Given the description of an element on the screen output the (x, y) to click on. 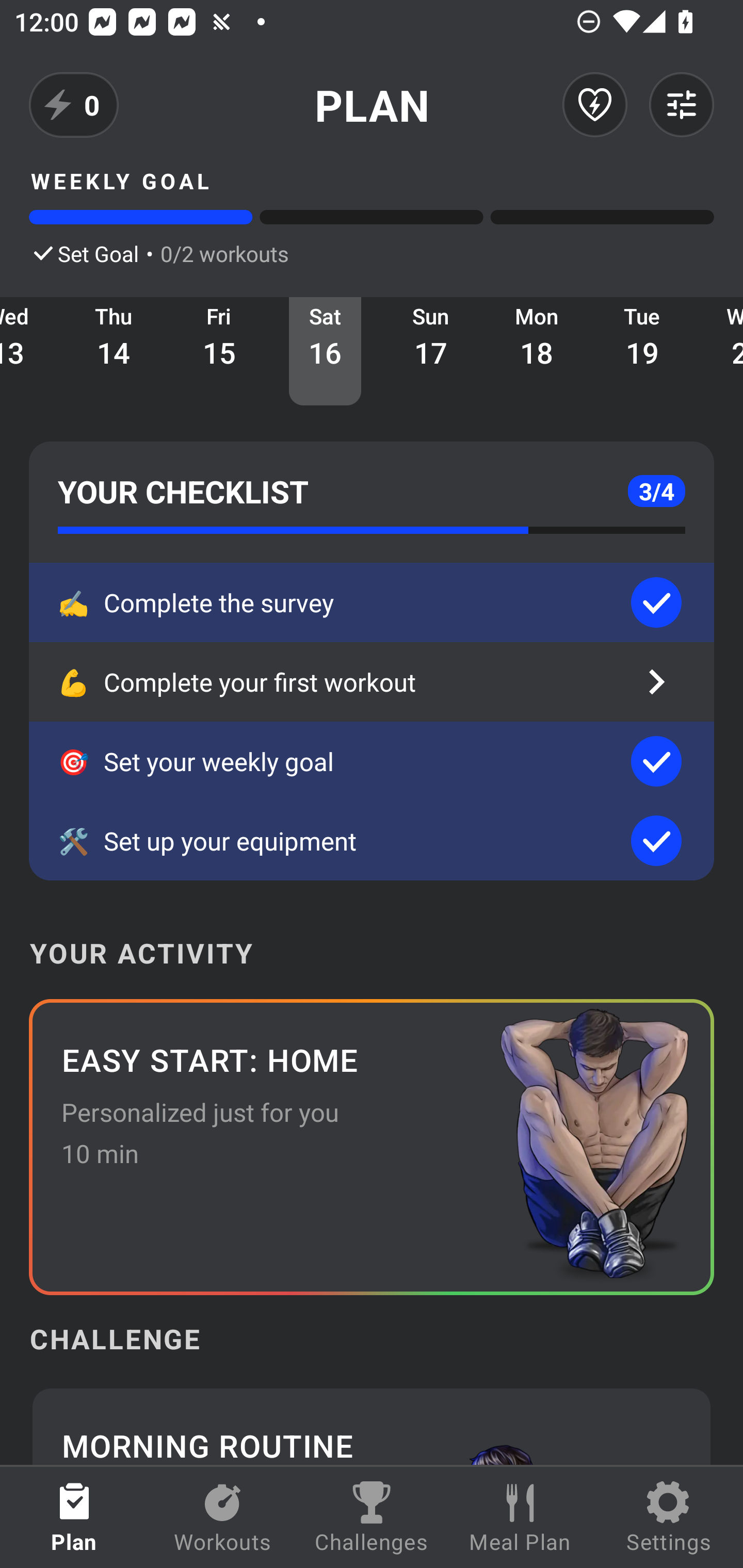
0 (73, 104)
Thu 14 (113, 351)
Fri 15 (219, 351)
Sat 16 (325, 351)
Sun 17 (430, 351)
Mon 18 (536, 351)
Tue 19 (642, 351)
💪 Complete your first workout (371, 681)
EASY START: HOME Personalized just for you 10 min (371, 1146)
MORNING ROUTINE (371, 1424)
 Workouts  (222, 1517)
 Challenges  (371, 1517)
 Meal Plan  (519, 1517)
 Settings  (668, 1517)
